Given the description of an element on the screen output the (x, y) to click on. 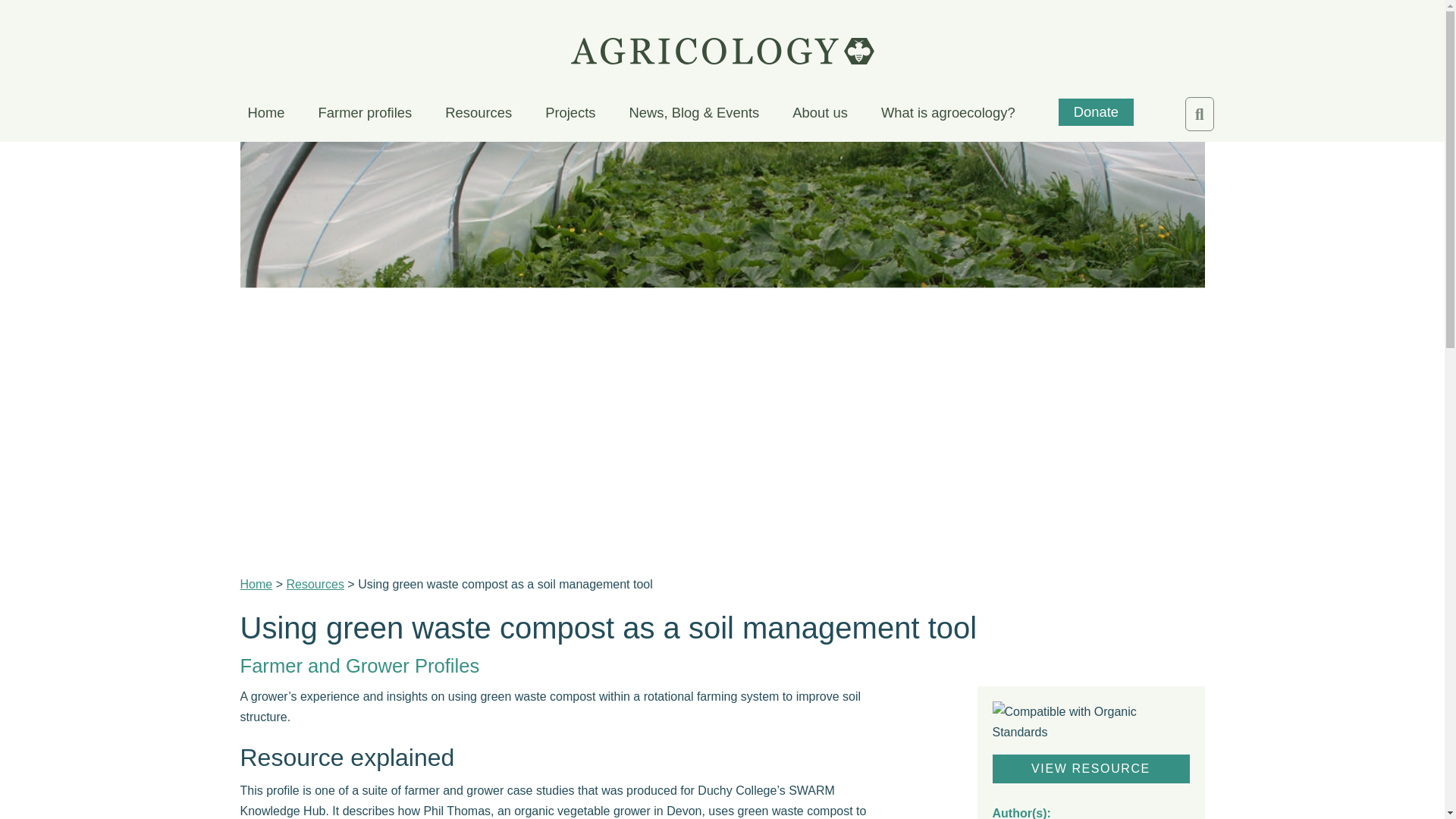
About us (819, 114)
VIEW RESOURCE (1090, 768)
agricology logo (721, 50)
Donate (1096, 112)
Resources (314, 584)
Home (256, 584)
Projects (569, 114)
Farmer profiles (365, 114)
Resources (478, 114)
What is agroecology? (947, 114)
